Given the description of an element on the screen output the (x, y) to click on. 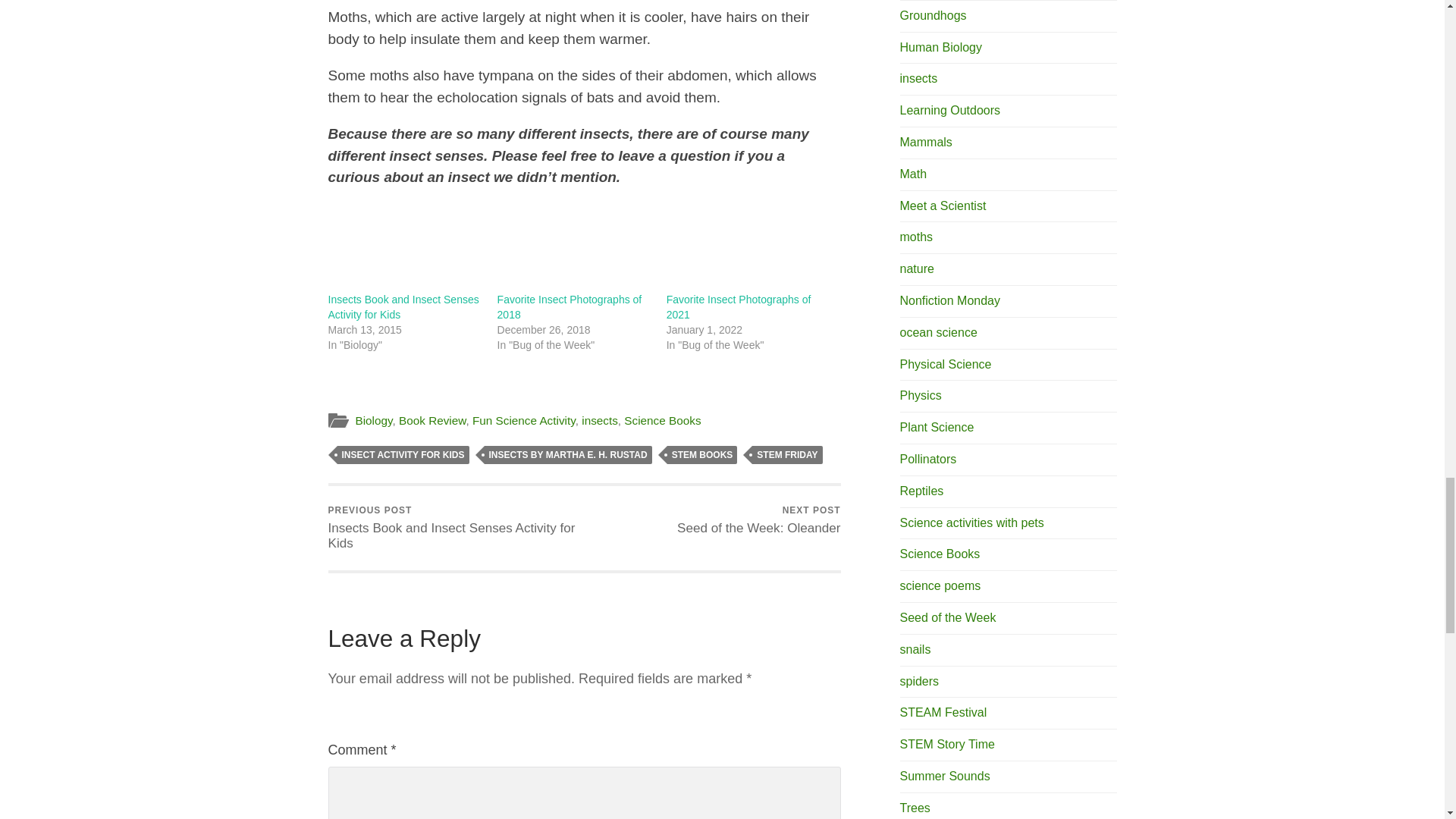
Biology (373, 420)
insects (598, 420)
Fun Science Activity (523, 420)
INSECTS BY MARTHA E. H. RUSTAD (568, 454)
Science Books (662, 420)
Insects Book and Insect Senses Activity for Kids (403, 307)
Favorite Insect Photographs of 2018 (569, 307)
Book Review (431, 420)
Insects Book and Insect Senses Activity for Kids (403, 307)
Favorite Insect Photographs of 2018 (569, 307)
